Given the description of an element on the screen output the (x, y) to click on. 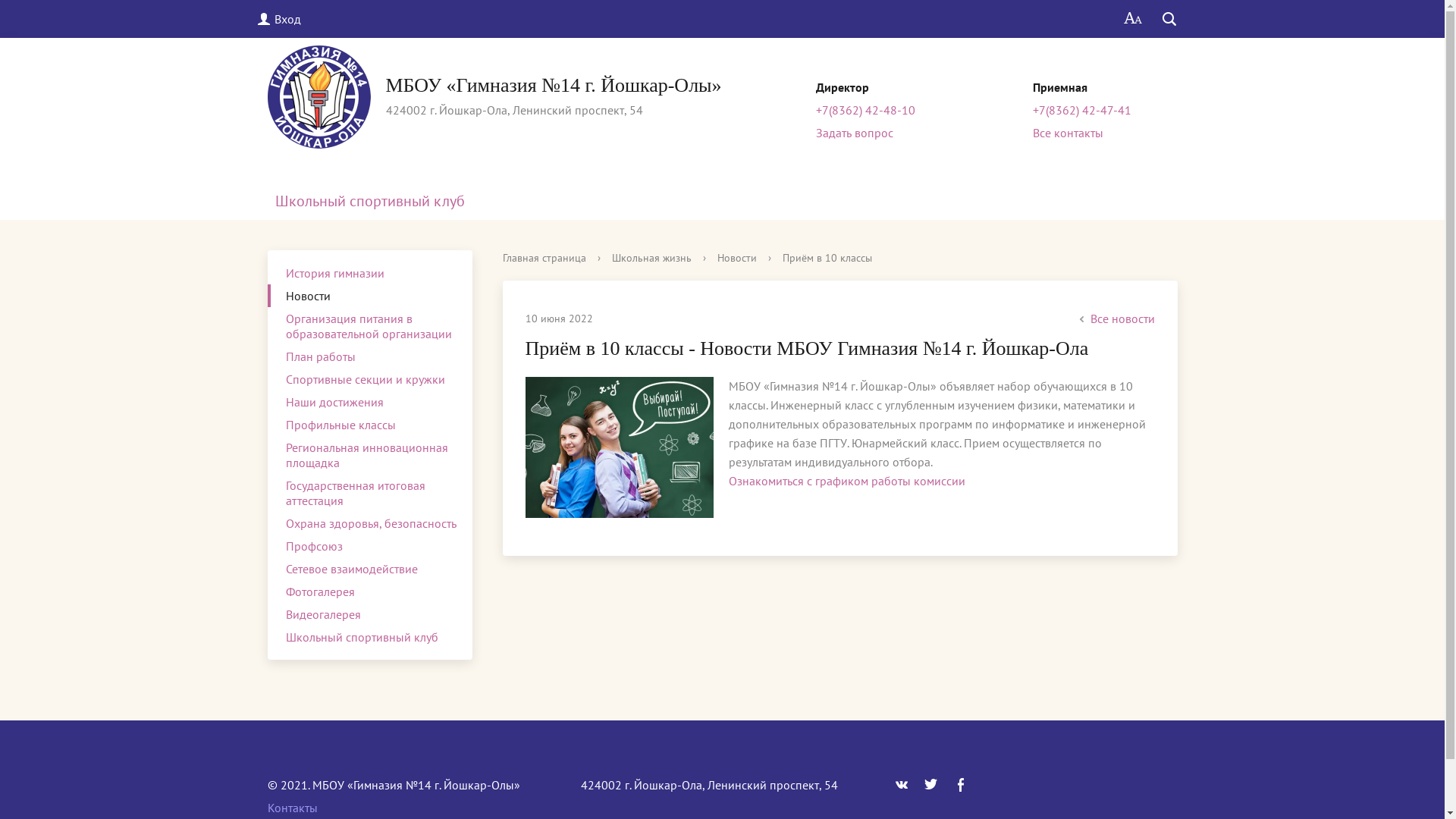
+7(8362) 42-48-10 Element type: text (865, 109)
+7(8362) 42-47-41 Element type: text (1081, 109)
